Given the description of an element on the screen output the (x, y) to click on. 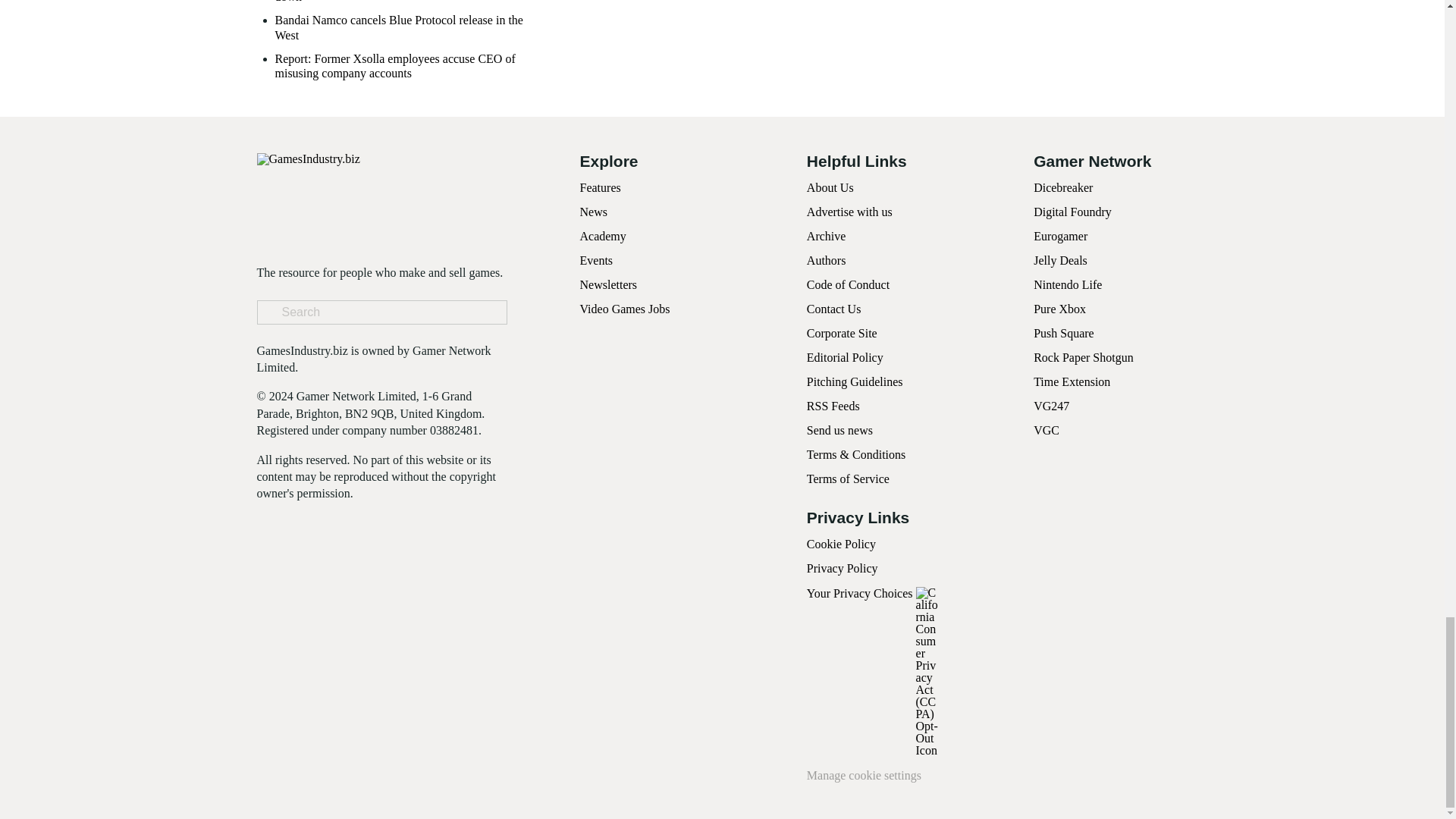
Newsletters (608, 284)
Academy (602, 236)
Events (595, 259)
Features (599, 187)
Video Games Jobs (624, 308)
Mental health charity Take This at risk of shutting down (409, 2)
Bandai Namco cancels Blue Protocol release in the West (409, 27)
News (593, 211)
Advertise with us (849, 211)
